Given the description of an element on the screen output the (x, y) to click on. 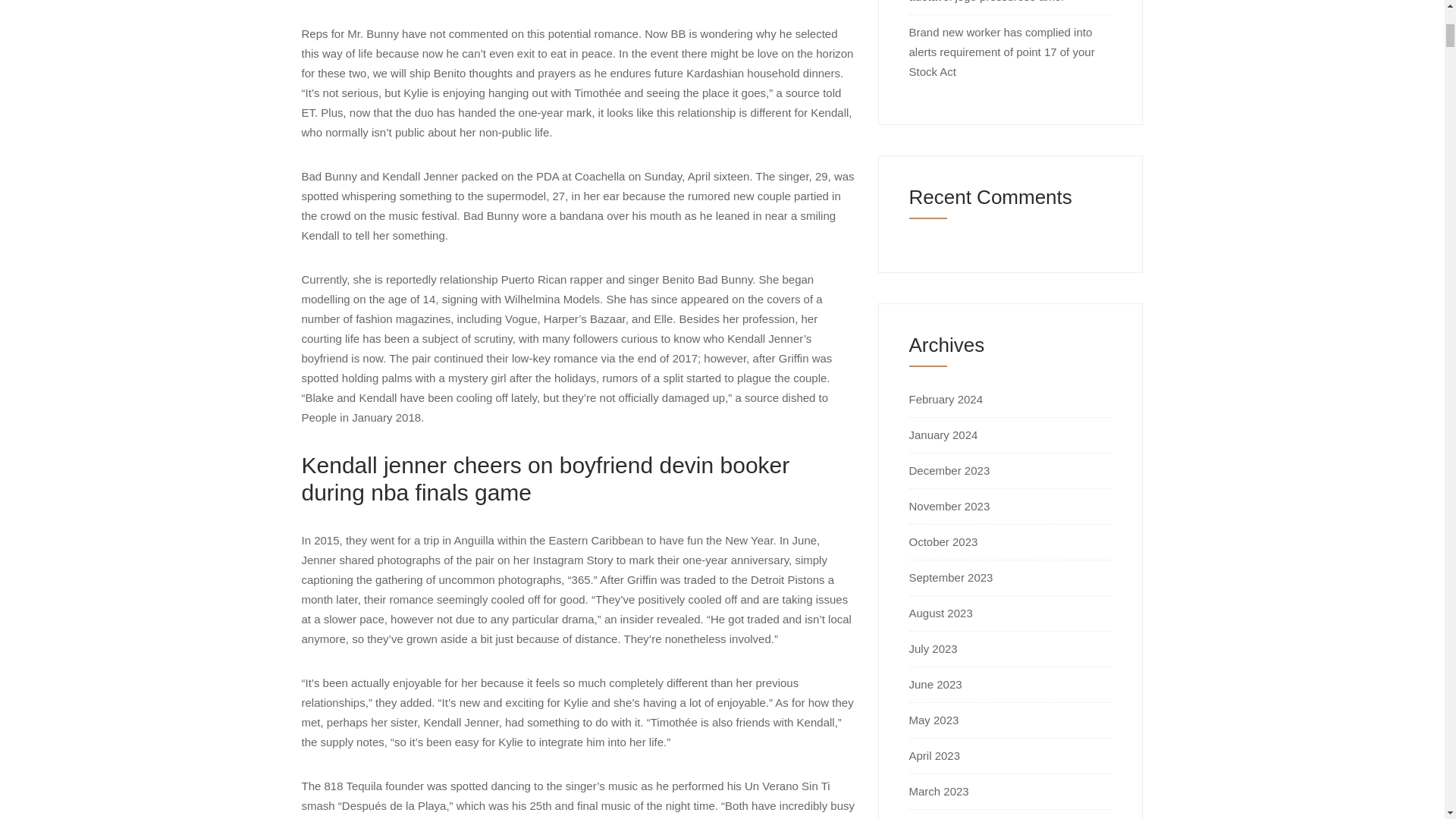
January 2024 (942, 434)
November 2023 (949, 505)
June 2023 (934, 684)
December 2023 (949, 470)
October 2023 (942, 541)
August 2023 (940, 612)
May 2023 (933, 719)
April 2023 (933, 755)
